Given the description of an element on the screen output the (x, y) to click on. 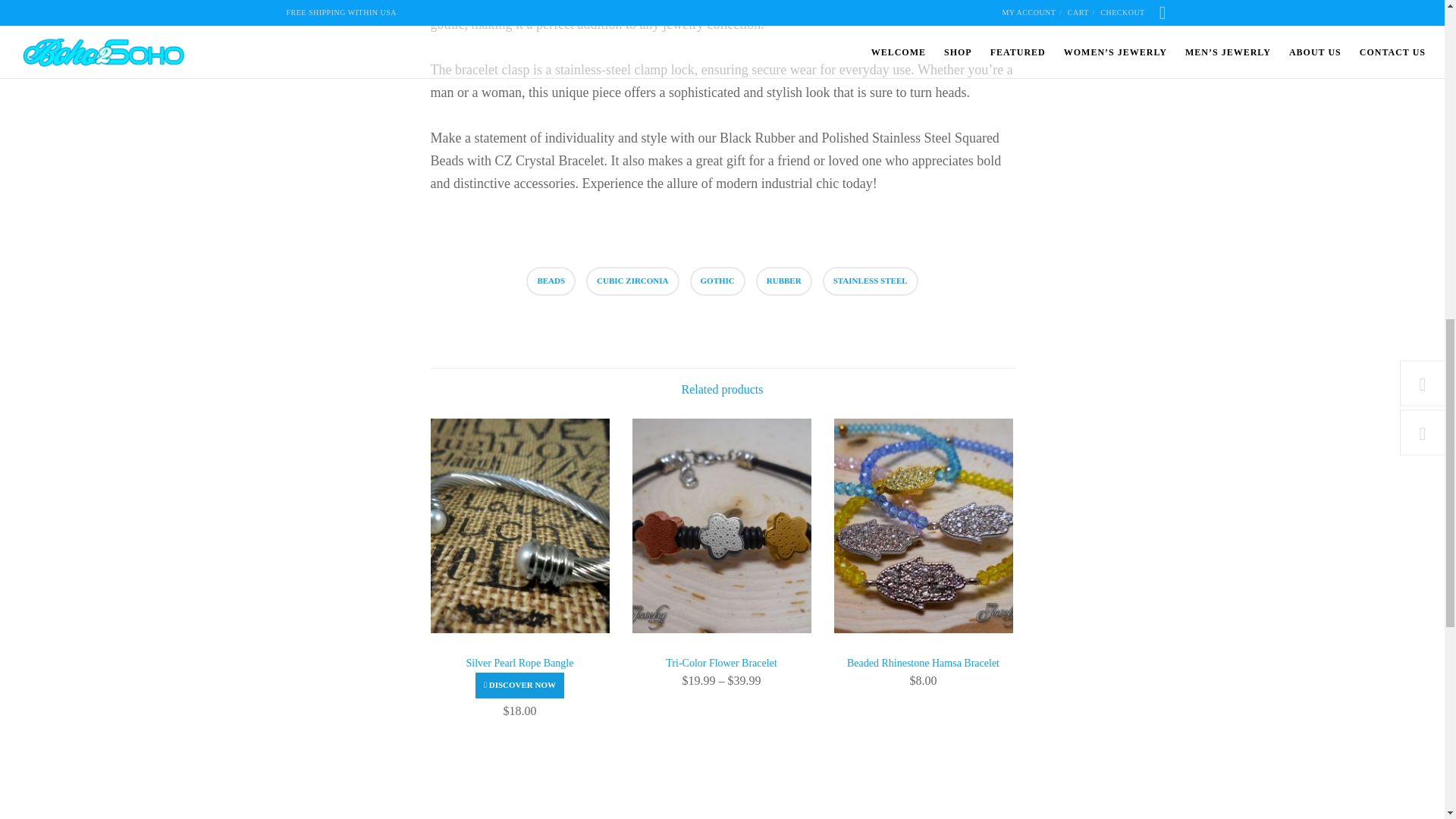
Silver Pearl Rope Bangle (520, 669)
Tri-Color Flower Bracelet (720, 663)
BEADS (550, 280)
CUBIC ZIRCONIA (632, 280)
GOTHIC (717, 280)
Quick View (520, 684)
STAINLESS STEEL (870, 280)
DISCOVER NOW (520, 684)
RUBBER (783, 280)
